Given the description of an element on the screen output the (x, y) to click on. 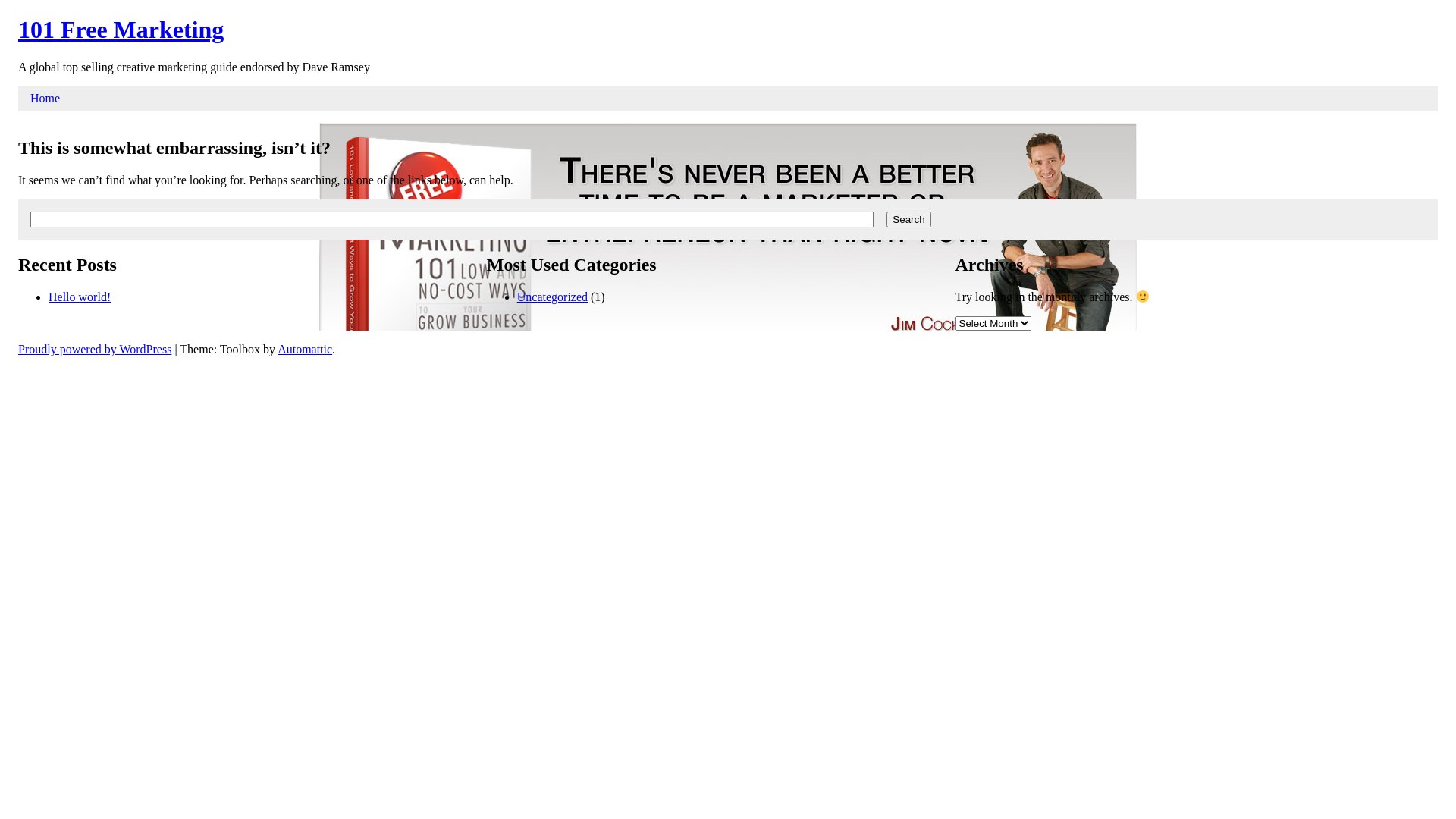
Skip to content Element type: text (29, 121)
Hello world! Element type: text (79, 295)
Search Element type: text (908, 219)
Uncategorized Element type: text (552, 295)
Proudly powered by WordPress Element type: text (94, 348)
101 Free Marketing Element type: text (120, 29)
Home Element type: text (45, 98)
Automattic Element type: text (304, 348)
